Given the description of an element on the screen output the (x, y) to click on. 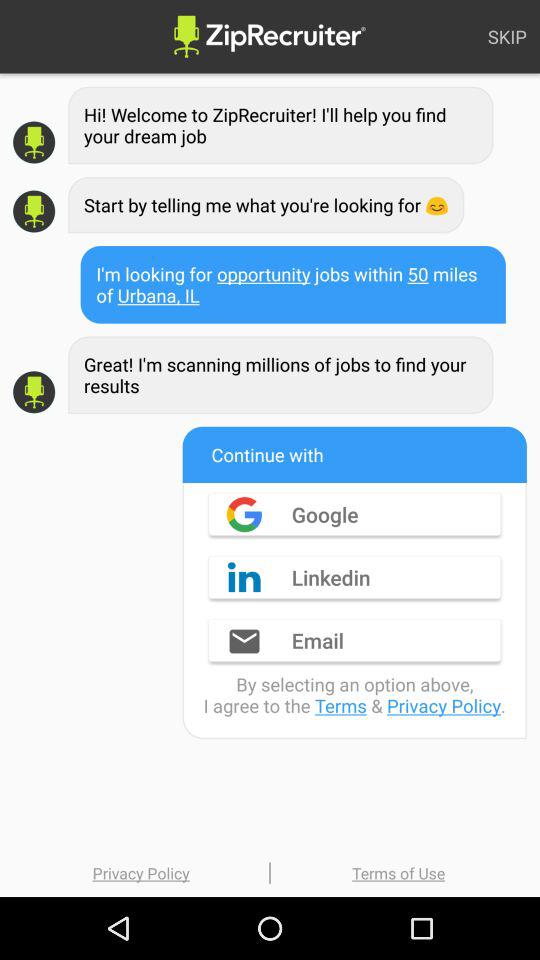
scroll to the terms of use item (398, 872)
